Given the description of an element on the screen output the (x, y) to click on. 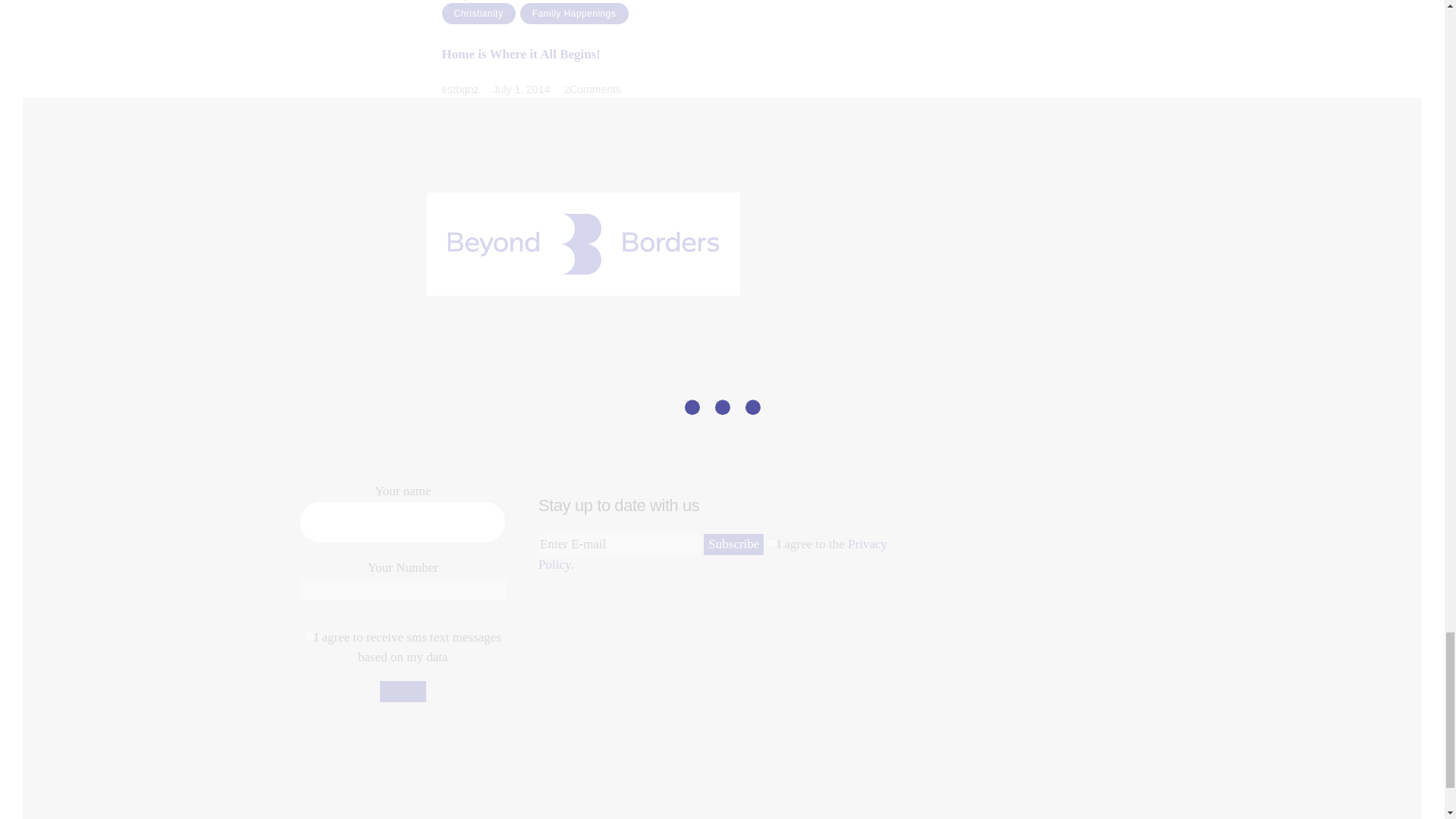
View all posts in Christianity (478, 13)
View all posts in Family Happenings (573, 13)
Submit (403, 691)
1 (772, 542)
1 (309, 636)
Subscribe (732, 544)
